Given the description of an element on the screen output the (x, y) to click on. 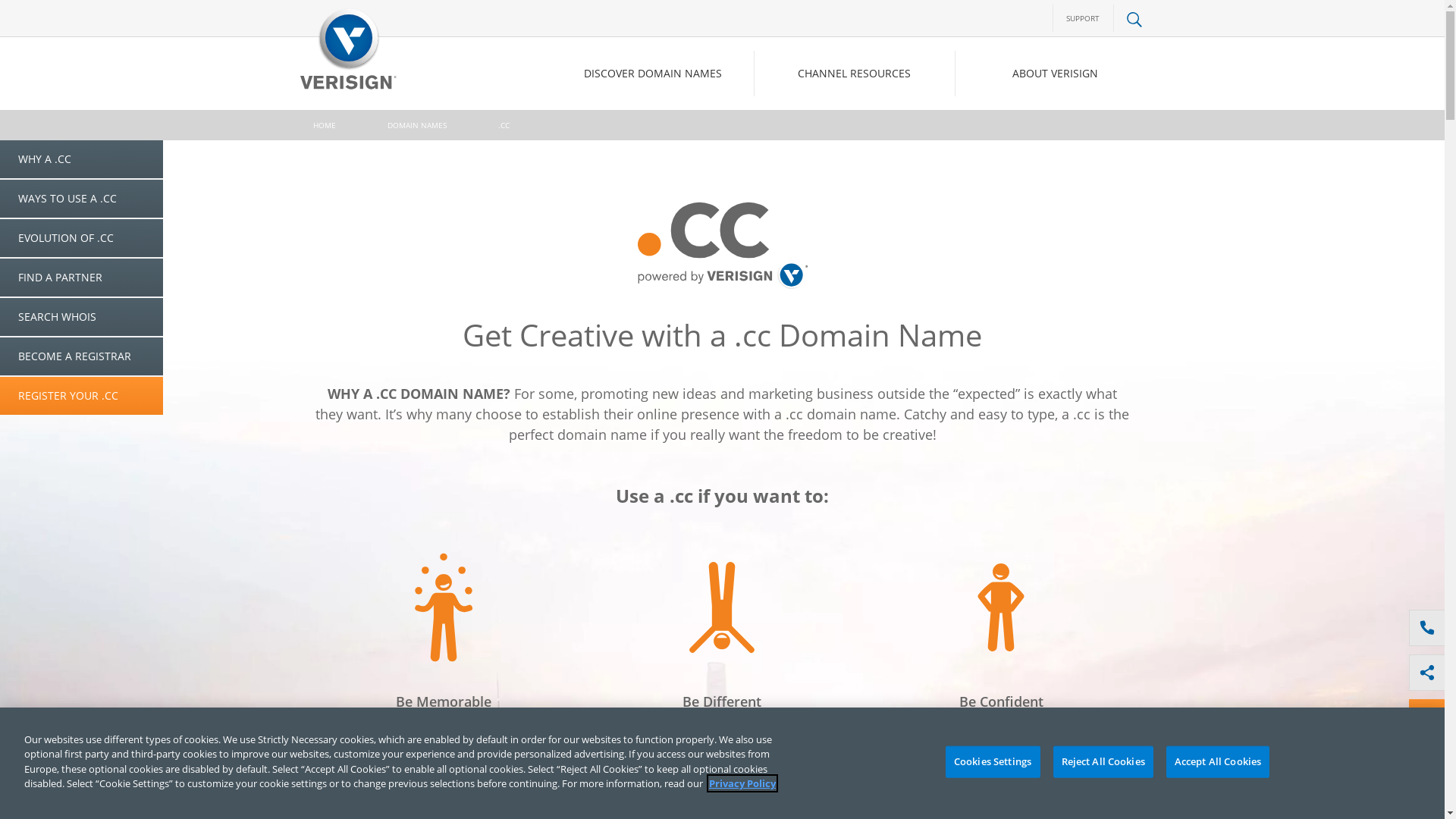
BECOME A REGISTRAR Element type: text (81, 356)
SEARCH WHOIS Element type: text (81, 317)
CHANNEL RESOURCES Element type: text (853, 73)
Accept All Cookies Element type: text (1217, 762)
Reject All Cookies Element type: text (1102, 762)
SUPPORT Element type: text (1082, 18)
.CC Element type: text (502, 124)
ABOUT VERISIGN Element type: text (1054, 73)
WAYS TO USE A .CC Element type: text (81, 199)
DISCOVER DOMAIN NAMES Element type: text (652, 73)
Cookies Settings Element type: text (991, 762)
same proven expertise Element type: text (983, 756)
HOME Element type: text (323, 124)
EVOLUTION OF .CC Element type: text (81, 238)
DOMAIN NAMES Element type: text (415, 124)
REGISTER YOUR .CC Element type: text (81, 395)
WHY A .CC Element type: text (81, 159)
FIND A PARTNER Element type: text (81, 278)
Privacy Policy Element type: text (742, 783)
